Given the description of an element on the screen output the (x, y) to click on. 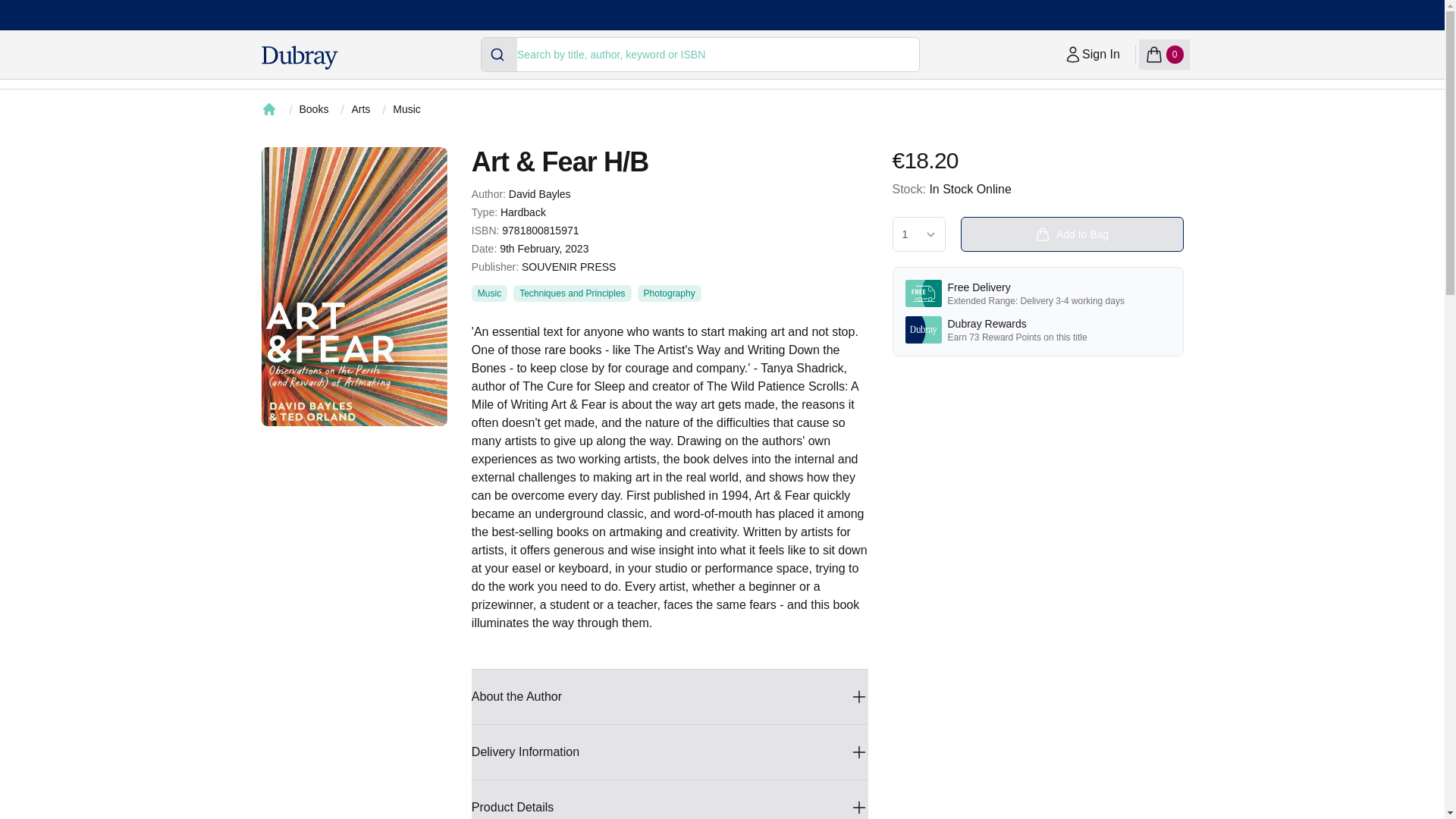
About the Author (669, 696)
Submit (498, 54)
Techniques and Principles (571, 293)
Home (268, 109)
Delivery Information (1091, 54)
Music (669, 751)
Photography (488, 293)
Arts (669, 293)
Add to Bag (359, 109)
